Given the description of an element on the screen output the (x, y) to click on. 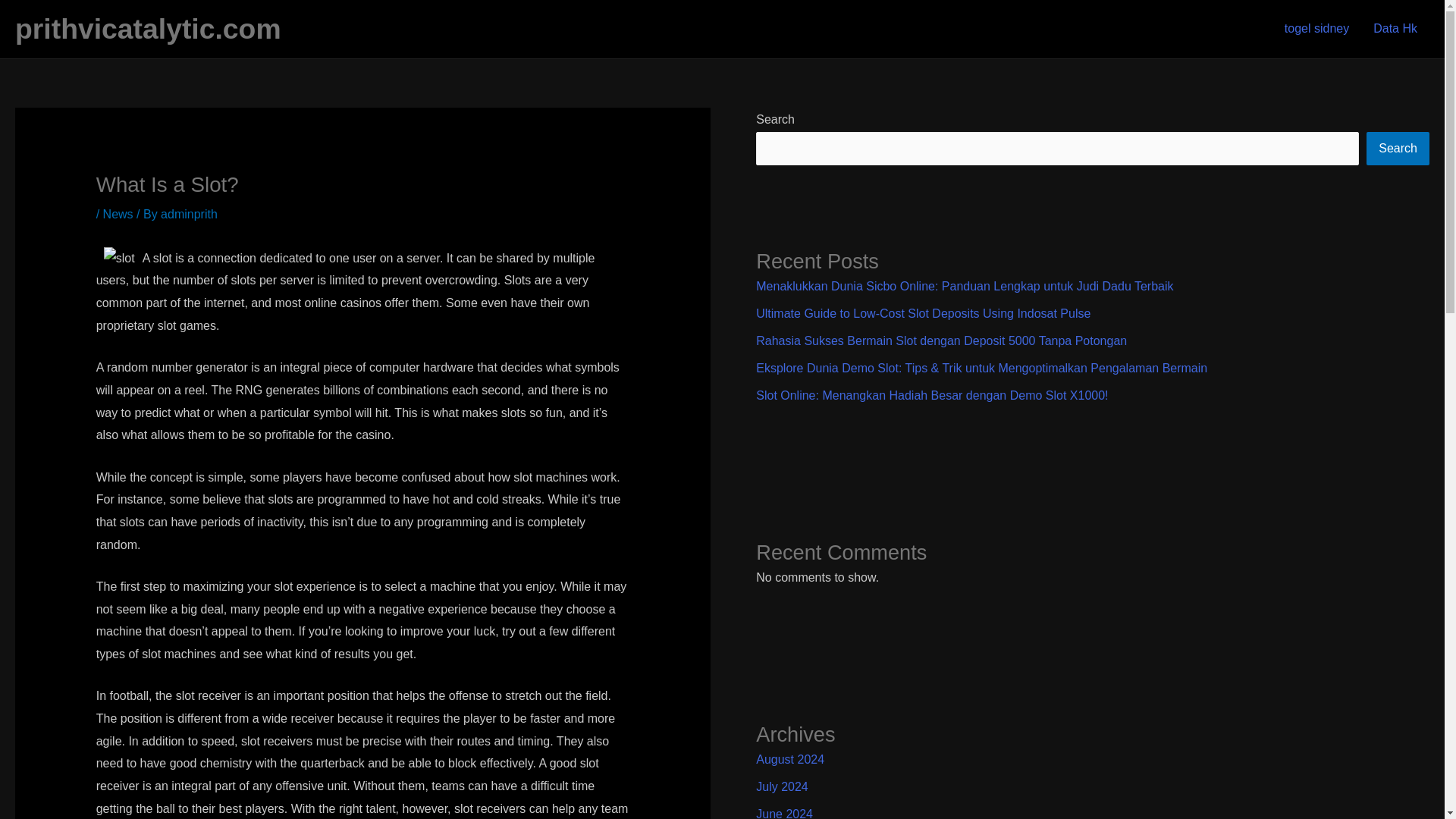
togel sidney (1316, 28)
News (118, 214)
Ultimate Guide to Low-Cost Slot Deposits Using Indosat Pulse (922, 313)
Slot Online: Menangkan Hadiah Besar dengan Demo Slot X1000! (931, 395)
adminprith (188, 214)
August 2024 (789, 758)
prithvicatalytic.com (147, 29)
View all posts by adminprith (188, 214)
July 2024 (781, 786)
Data Hk (1395, 28)
Search (1398, 148)
June 2024 (783, 813)
